Given the description of an element on the screen output the (x, y) to click on. 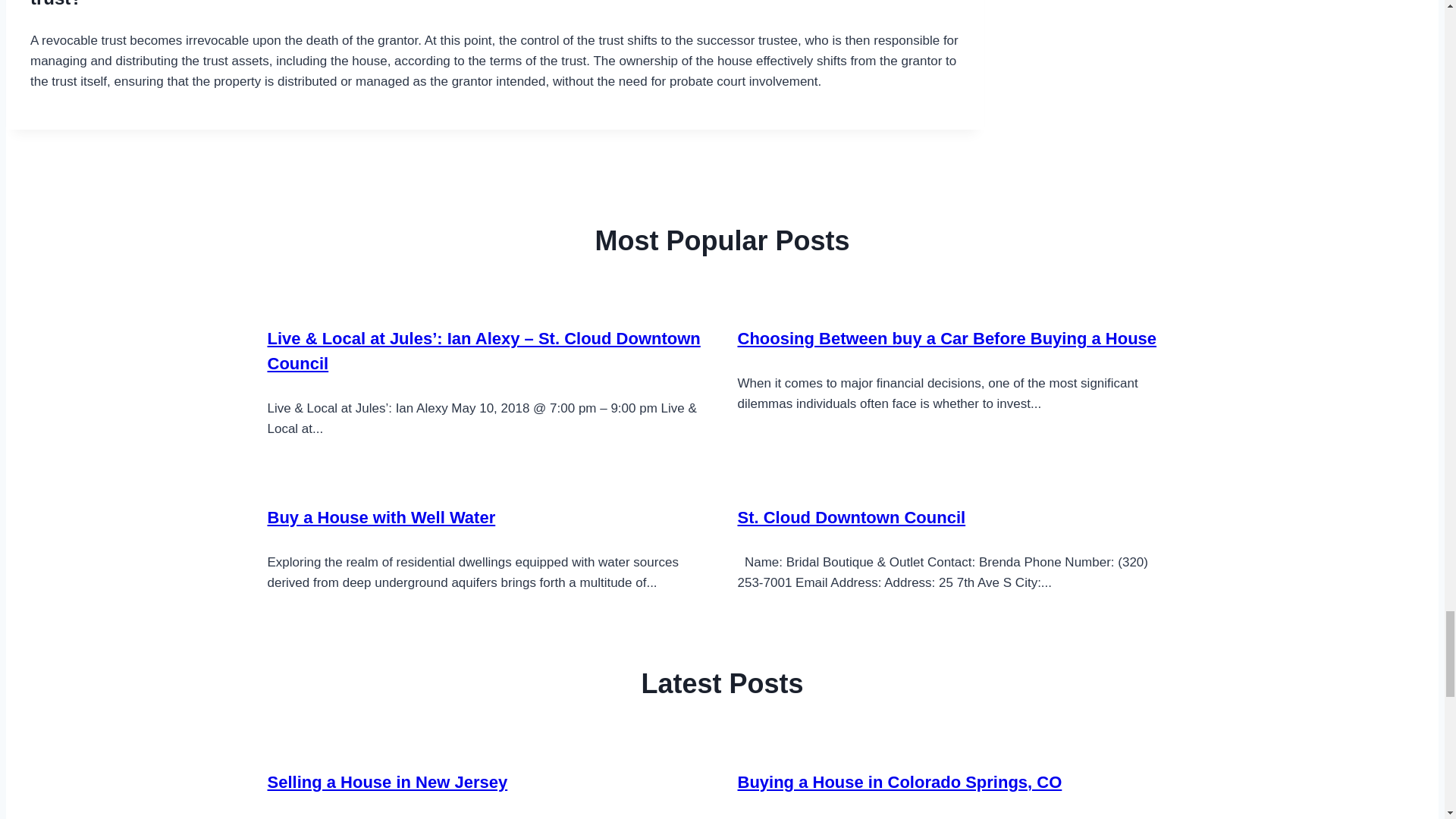
St. Cloud Downtown Council (850, 517)
Buy a House with Well Water (380, 517)
Choosing Between buy a Car Before Buying a House (946, 338)
